Given the description of an element on the screen output the (x, y) to click on. 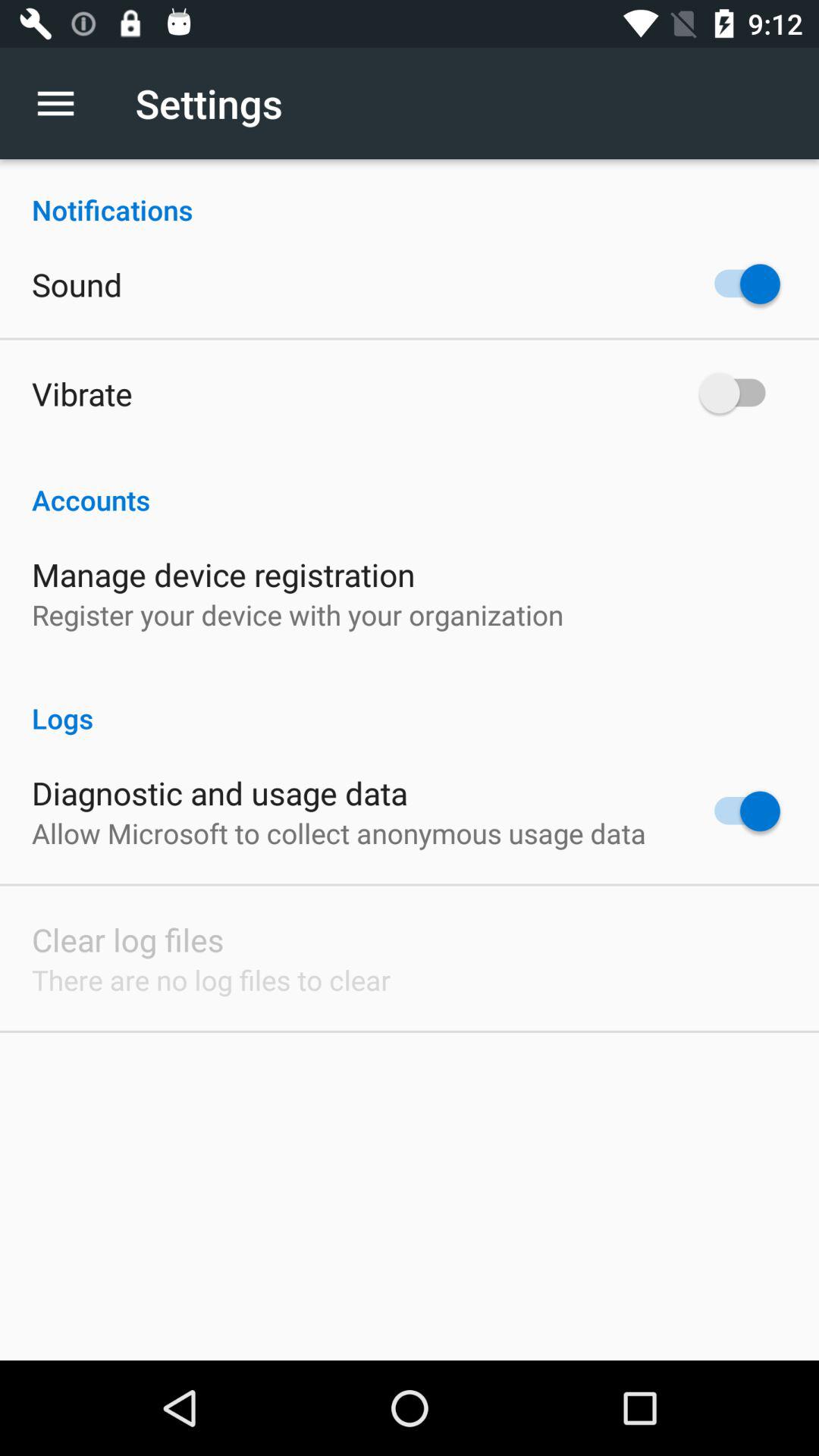
turn off app above allow microsoft to icon (219, 792)
